Given the description of an element on the screen output the (x, y) to click on. 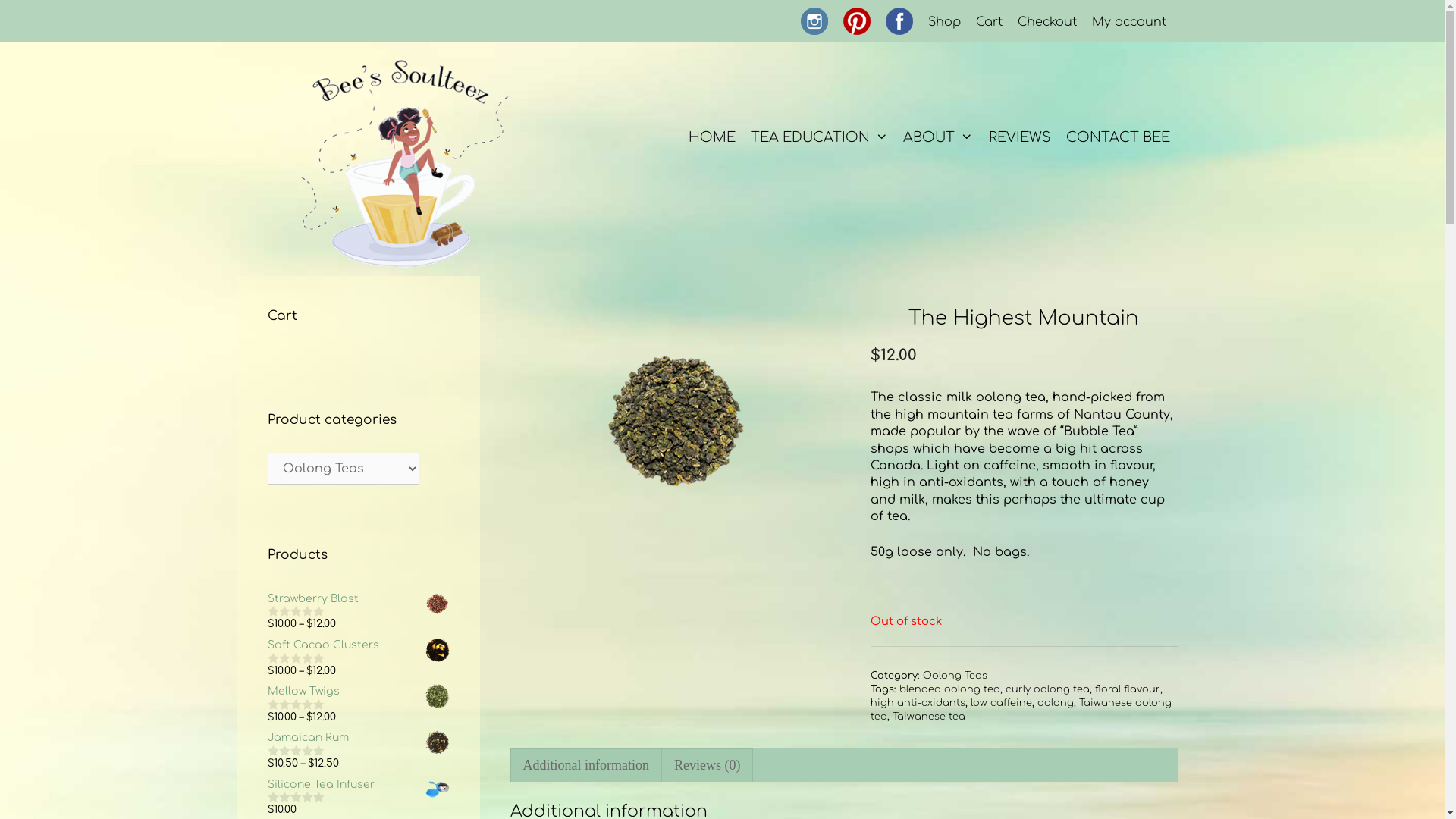
Not yet rated Element type: hover (295, 750)
oolong Element type: text (1055, 702)
blended oolong tea Element type: text (949, 689)
Not yet rated Element type: hover (295, 657)
My account Element type: text (1129, 21)
Instagram Element type: hover (814, 20)
Shop Element type: text (944, 21)
REVIEWS Element type: text (1019, 137)
Strawberry Blast Element type: text (357, 598)
Checkout Element type: text (1046, 21)
Additional information Element type: text (586, 765)
TEA EDUCATION Element type: text (819, 137)
floral flavour Element type: text (1127, 689)
Mellow Twigs Element type: text (357, 691)
the-highest-mountain200 Element type: hover (676, 419)
Cart Element type: text (988, 21)
curly oolong tea Element type: text (1047, 689)
Not yet rated Element type: hover (295, 796)
Not yet rated Element type: hover (295, 704)
CONTACT BEE Element type: text (1117, 137)
Silicone Tea Infuser Element type: text (357, 783)
Taiwanese oolong tea Element type: text (1020, 709)
Oolong Teas Element type: text (954, 675)
Jamaican Rum Element type: text (357, 737)
Facebook Element type: hover (899, 20)
Pinterest Element type: hover (856, 20)
Not yet rated Element type: hover (295, 610)
ABOUT Element type: text (937, 137)
high anti-oxidants Element type: text (917, 702)
low caffeine Element type: text (1001, 702)
Soft Cacao Clusters Element type: text (357, 644)
Reviews (0) Element type: text (707, 765)
Taiwanese tea Element type: text (928, 716)
HOME Element type: text (711, 137)
